Given the description of an element on the screen output the (x, y) to click on. 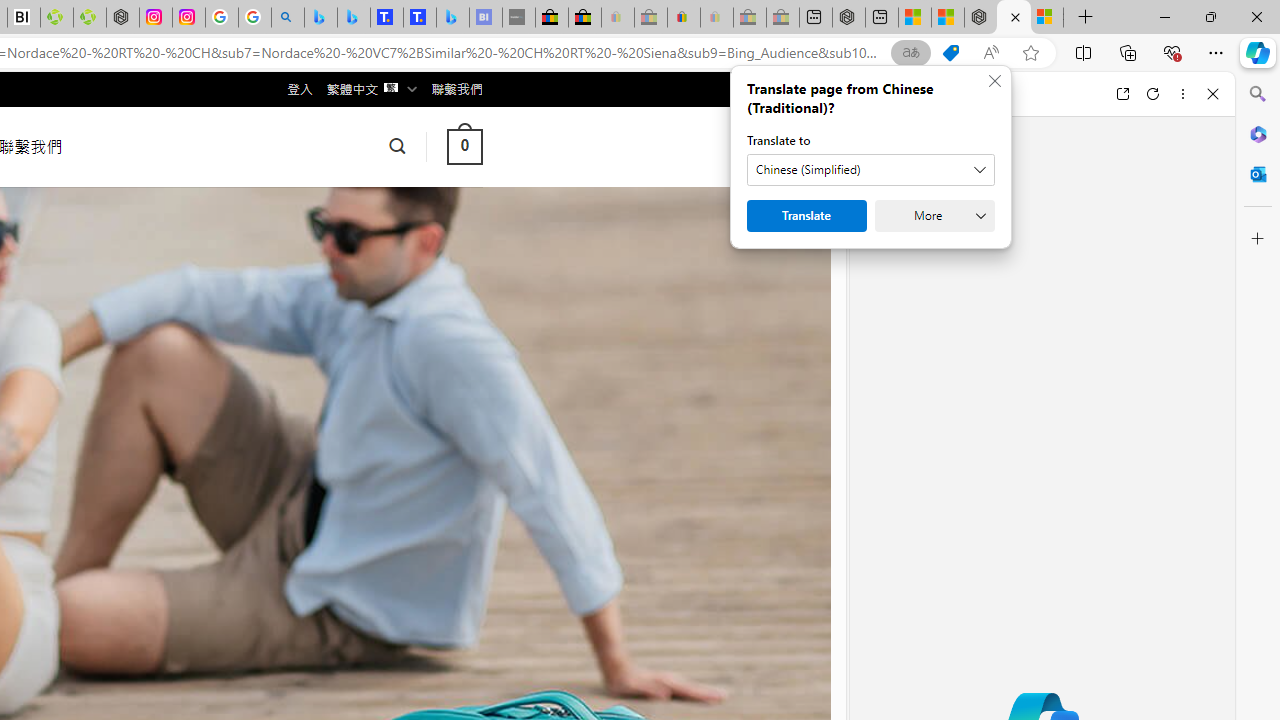
The importance of being lazy (947, 17)
